Given the description of an element on the screen output the (x, y) to click on. 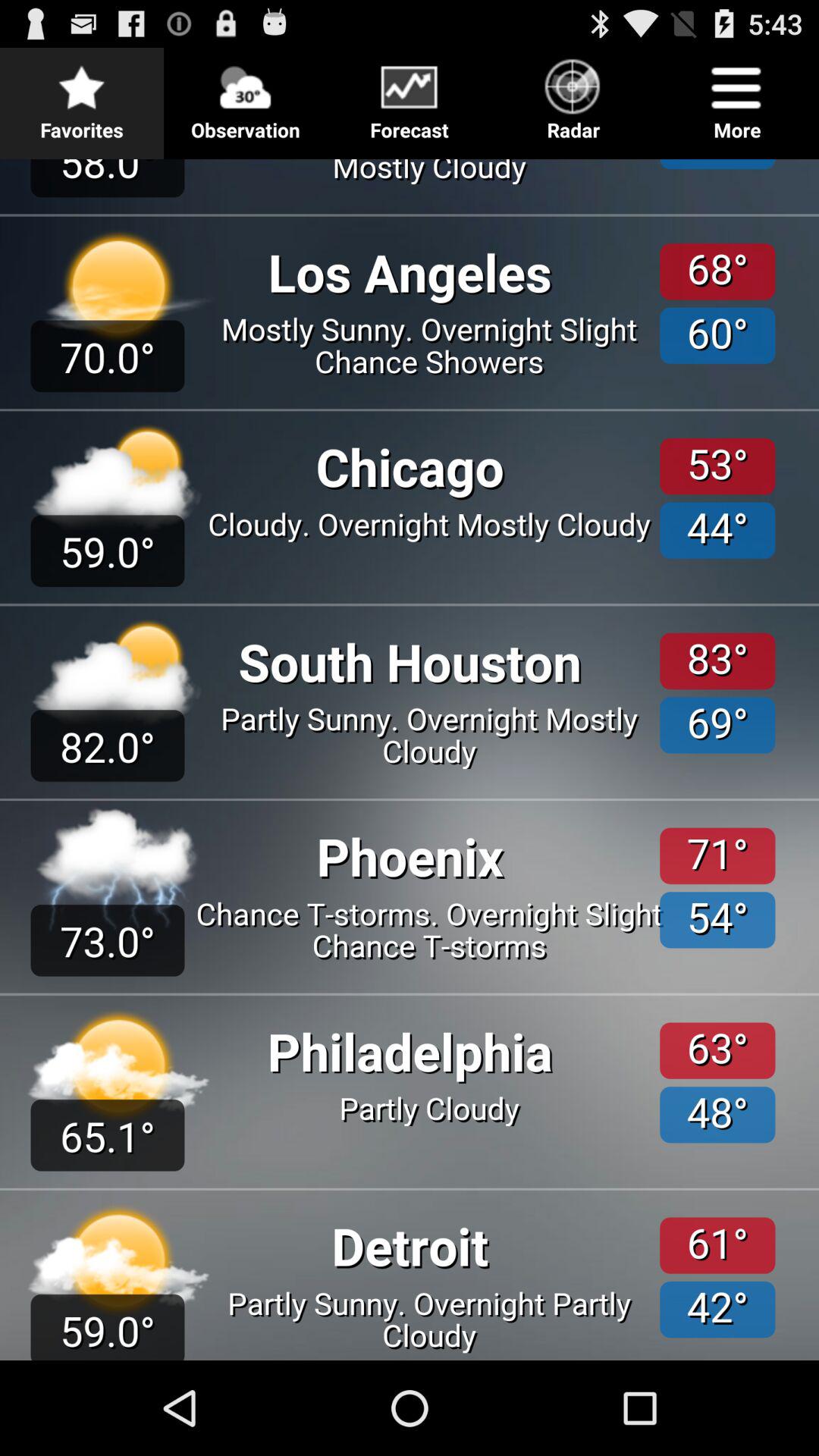
jump to the forecast item (409, 95)
